Given the description of an element on the screen output the (x, y) to click on. 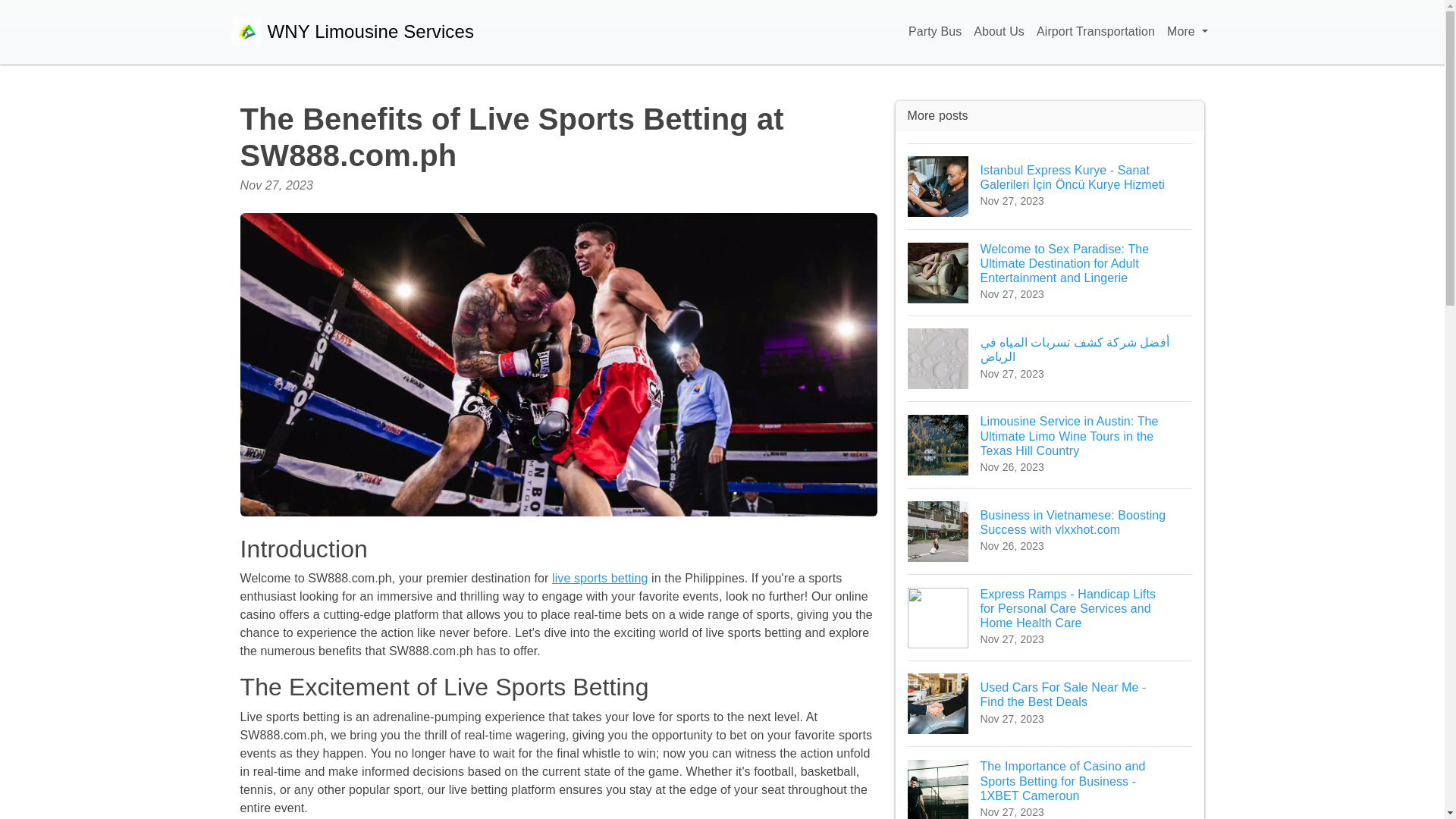
About Us (999, 32)
WNY Limousine Services (352, 31)
More (1186, 32)
Party Bus (935, 32)
live sports betting (599, 577)
Airport Transportation (1095, 32)
